Given the description of an element on the screen output the (x, y) to click on. 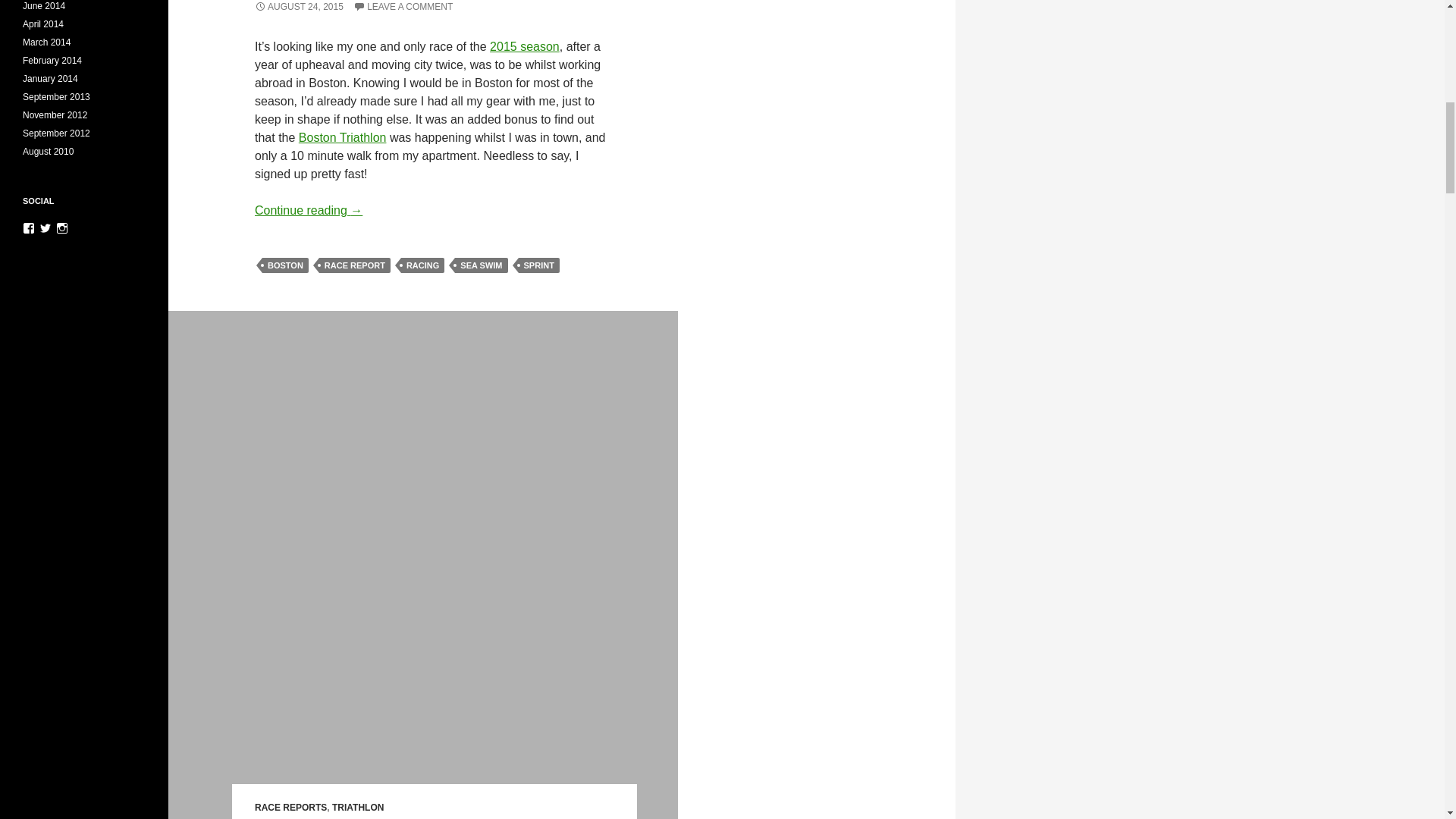
SPRINT (538, 264)
Boston Triathlon (342, 137)
TRIATHLON (357, 807)
AUGUST 24, 2015 (298, 6)
2015 season (524, 46)
RACE REPORTS (290, 807)
BOSTON (285, 264)
SEA SWIM (480, 264)
LEAVE A COMMENT (402, 6)
RACE REPORT (354, 264)
